Given the description of an element on the screen output the (x, y) to click on. 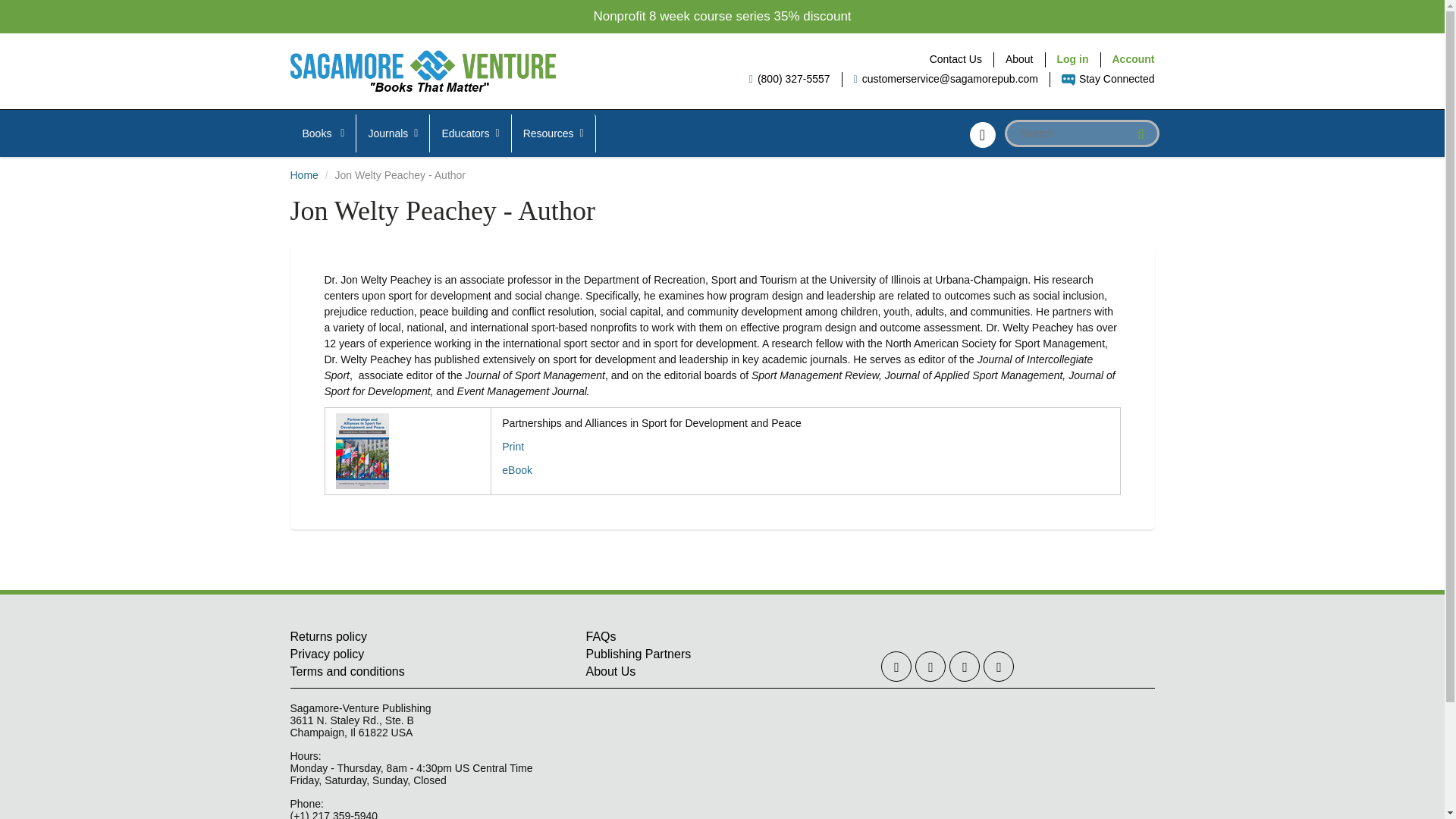
Contact Us (955, 59)
Facebook (929, 666)
Twitter (895, 666)
Books (323, 133)
Home (303, 174)
Account (1133, 59)
YouTube (998, 666)
Instagram (964, 666)
Stay Connected (1107, 79)
About (1019, 59)
